Given the description of an element on the screen output the (x, y) to click on. 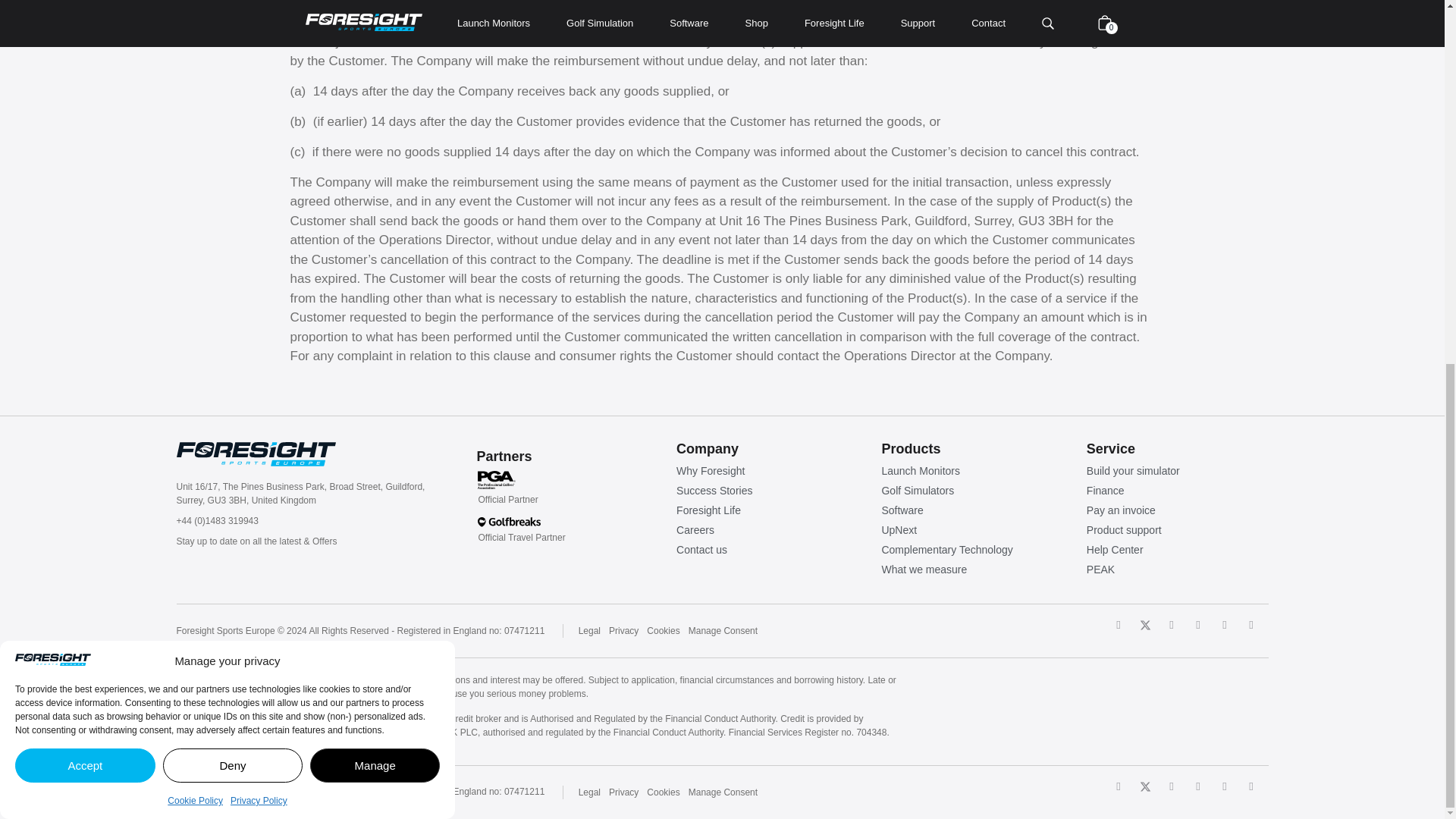
Privacy Policy (258, 151)
Cookie Policy (194, 151)
Deny (232, 115)
Manage (374, 115)
Accept (84, 115)
